Given the description of an element on the screen output the (x, y) to click on. 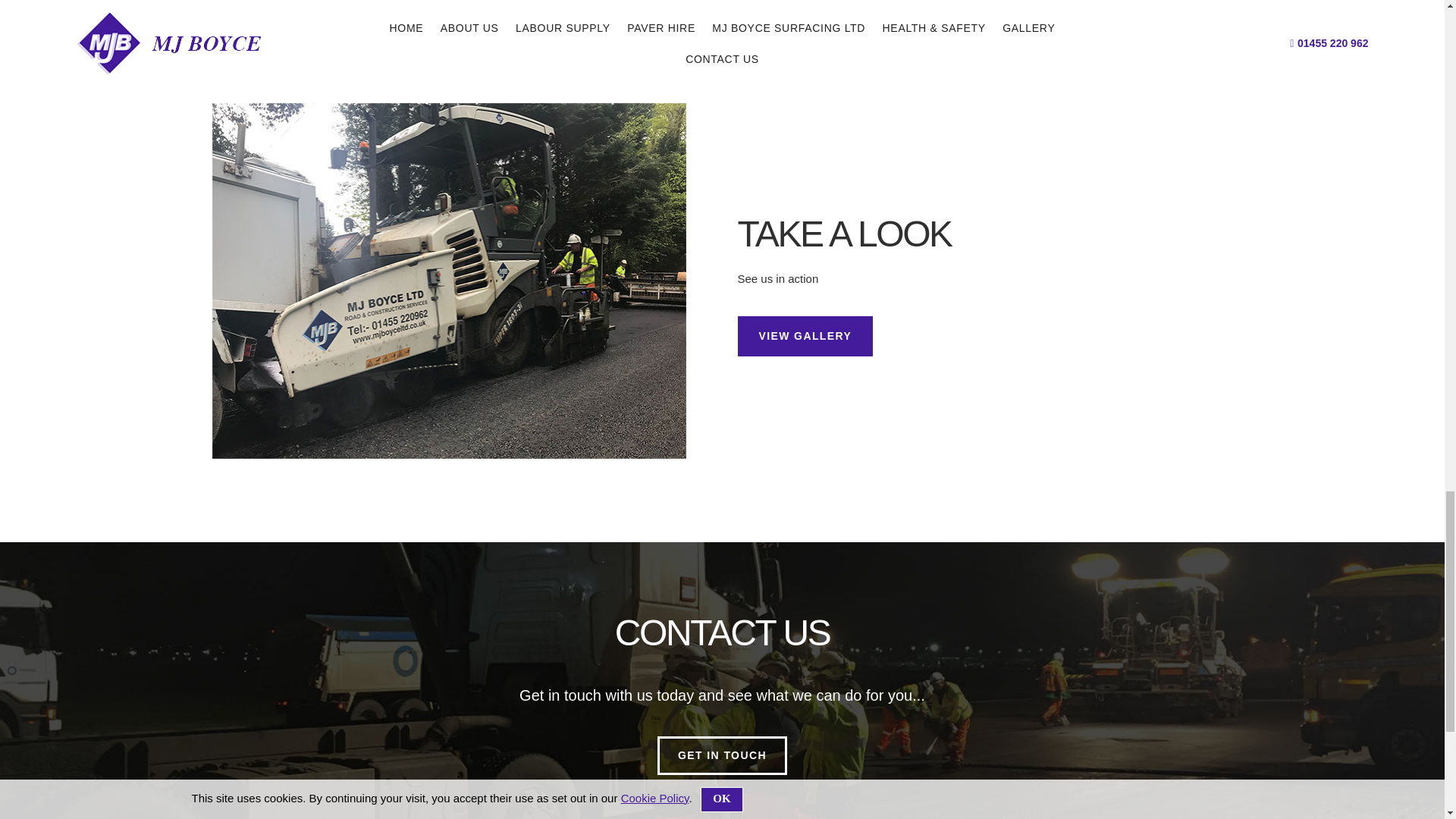
GET IN TOUCH (722, 755)
VIEW GALLERY (804, 336)
